Given the description of an element on the screen output the (x, y) to click on. 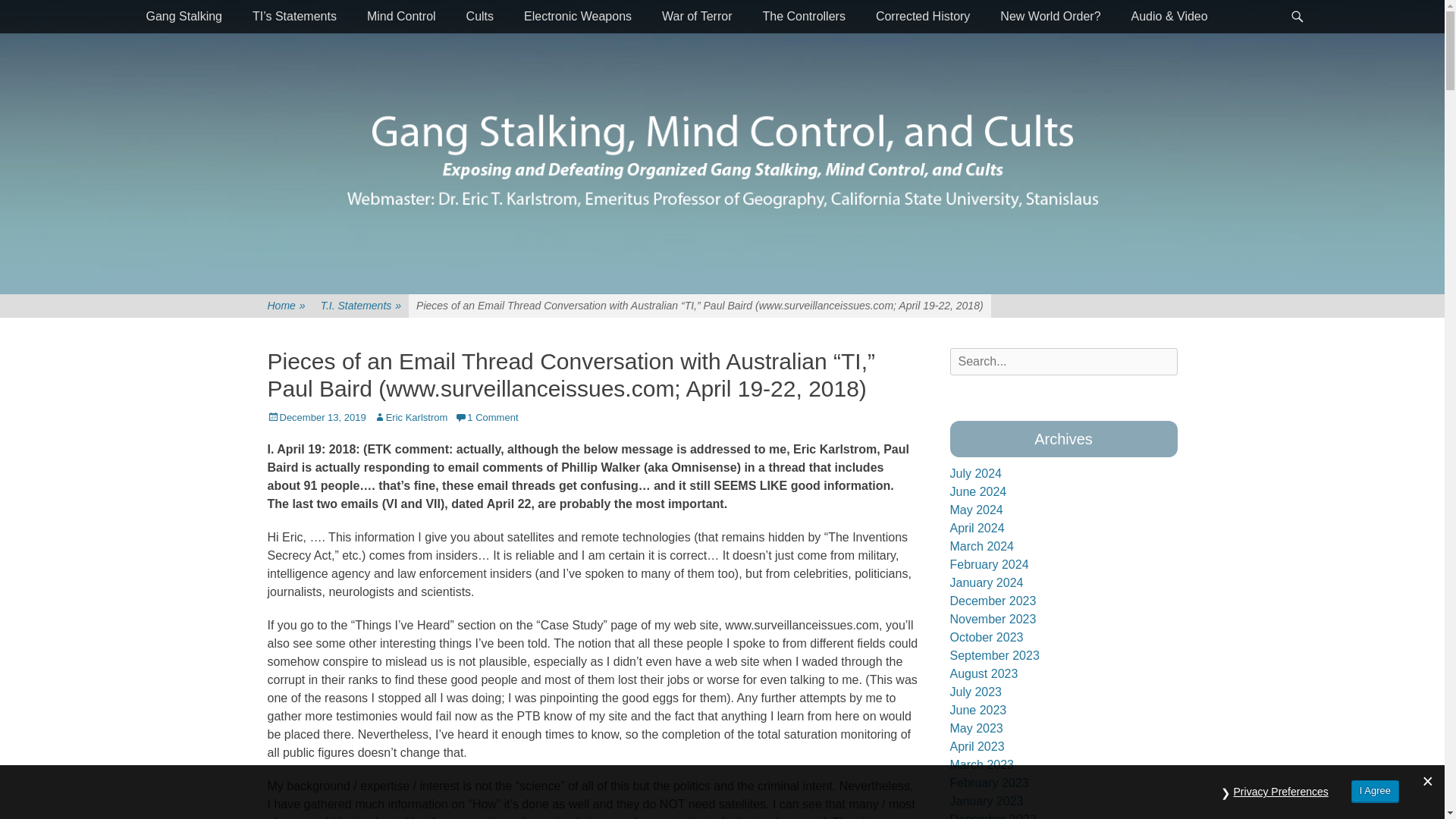
Search (31, 16)
May 2024 (976, 509)
October 2023 (986, 636)
July 2024 (975, 472)
December 2023 (992, 600)
Eric Karlstrom (411, 417)
War of Terror (696, 16)
The Controllers (804, 16)
January 2024 (986, 582)
1 Comment (486, 417)
March 2024 (981, 545)
December 13, 2019 (315, 417)
Cults (479, 16)
Electronic Weapons (577, 16)
April 2024 (976, 527)
